Given the description of an element on the screen output the (x, y) to click on. 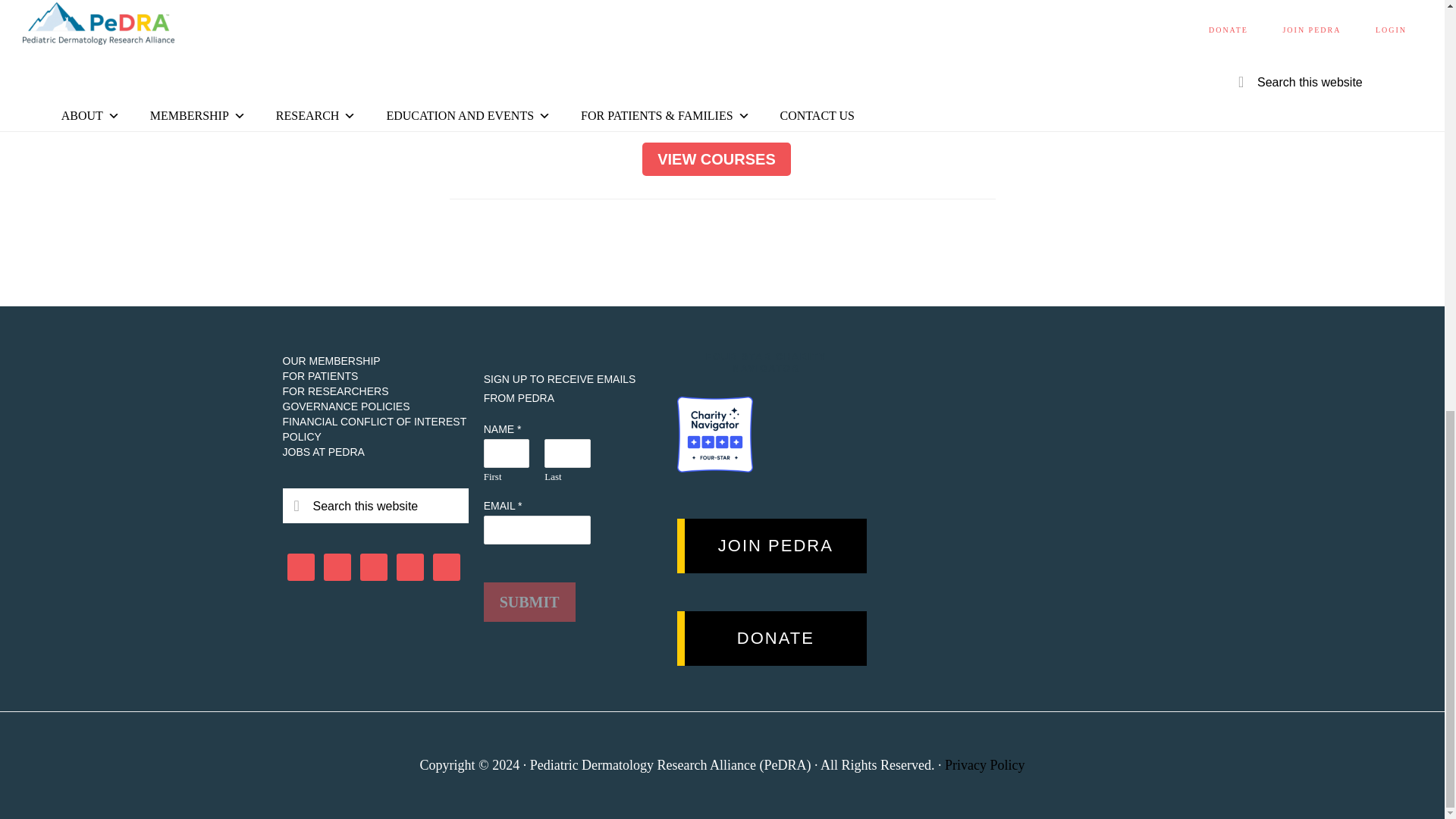
Four Star Charity Navigator (714, 434)
